Given the description of an element on the screen output the (x, y) to click on. 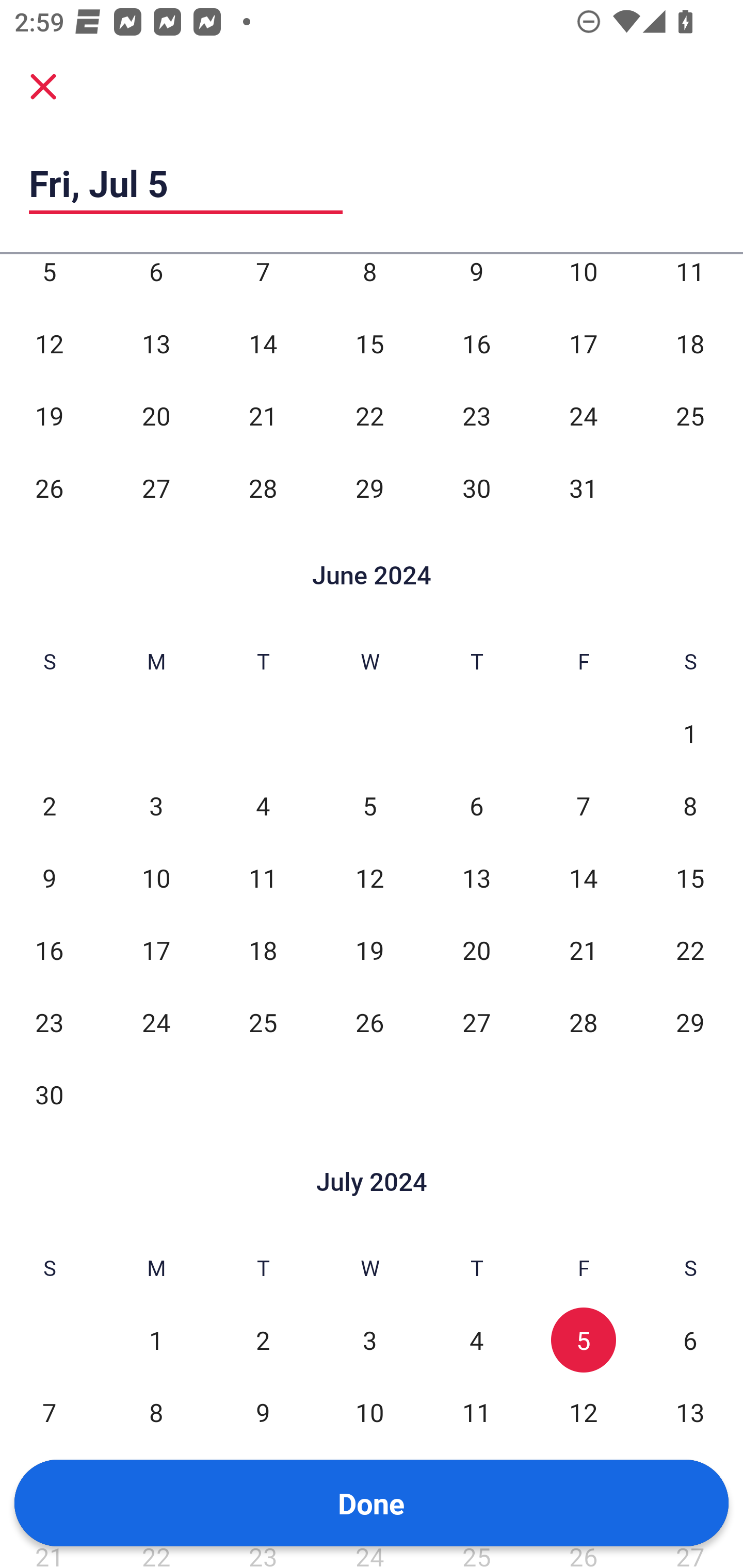
Cancel (43, 86)
Fri, Jul 5 (185, 182)
5 Sun, May 5, Not Selected (49, 280)
6 Mon, May 6, Not Selected (156, 280)
7 Tue, May 7, Not Selected (263, 280)
8 Wed, May 8, Not Selected (369, 280)
9 Thu, May 9, Not Selected (476, 280)
10 Fri, May 10, Not Selected (583, 280)
11 Sat, May 11, Not Selected (690, 280)
12 Sun, May 12, Not Selected (49, 343)
13 Mon, May 13, Not Selected (156, 343)
14 Tue, May 14, Not Selected (263, 343)
15 Wed, May 15, Not Selected (369, 343)
16 Thu, May 16, Not Selected (476, 343)
17 Fri, May 17, Not Selected (583, 343)
18 Sat, May 18, Not Selected (690, 343)
19 Sun, May 19, Not Selected (49, 415)
20 Mon, May 20, Not Selected (156, 415)
21 Tue, May 21, Not Selected (263, 415)
22 Wed, May 22, Not Selected (369, 415)
23 Thu, May 23, Not Selected (476, 415)
24 Fri, May 24, Not Selected (583, 415)
25 Sat, May 25, Not Selected (690, 415)
26 Sun, May 26, Not Selected (49, 487)
27 Mon, May 27, Not Selected (156, 487)
28 Tue, May 28, Not Selected (263, 487)
29 Wed, May 29, Not Selected (369, 487)
30 Thu, May 30, Not Selected (476, 487)
31 Fri, May 31, Not Selected (583, 487)
1 Sat, Jun 1, Not Selected (690, 733)
2 Sun, Jun 2, Not Selected (49, 805)
3 Mon, Jun 3, Not Selected (156, 805)
4 Tue, Jun 4, Not Selected (263, 805)
5 Wed, Jun 5, Not Selected (369, 805)
6 Thu, Jun 6, Not Selected (476, 805)
7 Fri, Jun 7, Not Selected (583, 805)
8 Sat, Jun 8, Not Selected (690, 805)
9 Sun, Jun 9, Not Selected (49, 878)
10 Mon, Jun 10, Not Selected (156, 878)
11 Tue, Jun 11, Not Selected (263, 878)
12 Wed, Jun 12, Not Selected (369, 878)
13 Thu, Jun 13, Not Selected (476, 878)
14 Fri, Jun 14, Not Selected (583, 878)
15 Sat, Jun 15, Not Selected (690, 878)
16 Sun, Jun 16, Not Selected (49, 950)
17 Mon, Jun 17, Not Selected (156, 950)
18 Tue, Jun 18, Not Selected (263, 950)
19 Wed, Jun 19, Not Selected (369, 950)
20 Thu, Jun 20, Not Selected (476, 950)
21 Fri, Jun 21, Not Selected (583, 950)
22 Sat, Jun 22, Not Selected (690, 950)
23 Sun, Jun 23, Not Selected (49, 1022)
24 Mon, Jun 24, Not Selected (156, 1022)
25 Tue, Jun 25, Not Selected (263, 1022)
26 Wed, Jun 26, Not Selected (369, 1022)
27 Thu, Jun 27, Not Selected (476, 1022)
28 Fri, Jun 28, Not Selected (583, 1022)
29 Sat, Jun 29, Not Selected (690, 1022)
30 Sun, Jun 30, Not Selected (49, 1094)
1 Mon, Jul 1, Not Selected (156, 1340)
2 Tue, Jul 2, Not Selected (263, 1340)
3 Wed, Jul 3, Not Selected (369, 1340)
4 Thu, Jul 4, Not Selected (476, 1340)
5 Fri, Jul 5, Selected (583, 1340)
6 Sat, Jul 6, Not Selected (690, 1340)
7 Sun, Jul 7, Not Selected (49, 1412)
8 Mon, Jul 8, Not Selected (156, 1412)
9 Tue, Jul 9, Not Selected (263, 1412)
10 Wed, Jul 10, Not Selected (369, 1412)
11 Thu, Jul 11, Not Selected (476, 1412)
12 Fri, Jul 12, Not Selected (583, 1412)
13 Sat, Jul 13, Not Selected (690, 1412)
Done Button Done (371, 1502)
